Given the description of an element on the screen output the (x, y) to click on. 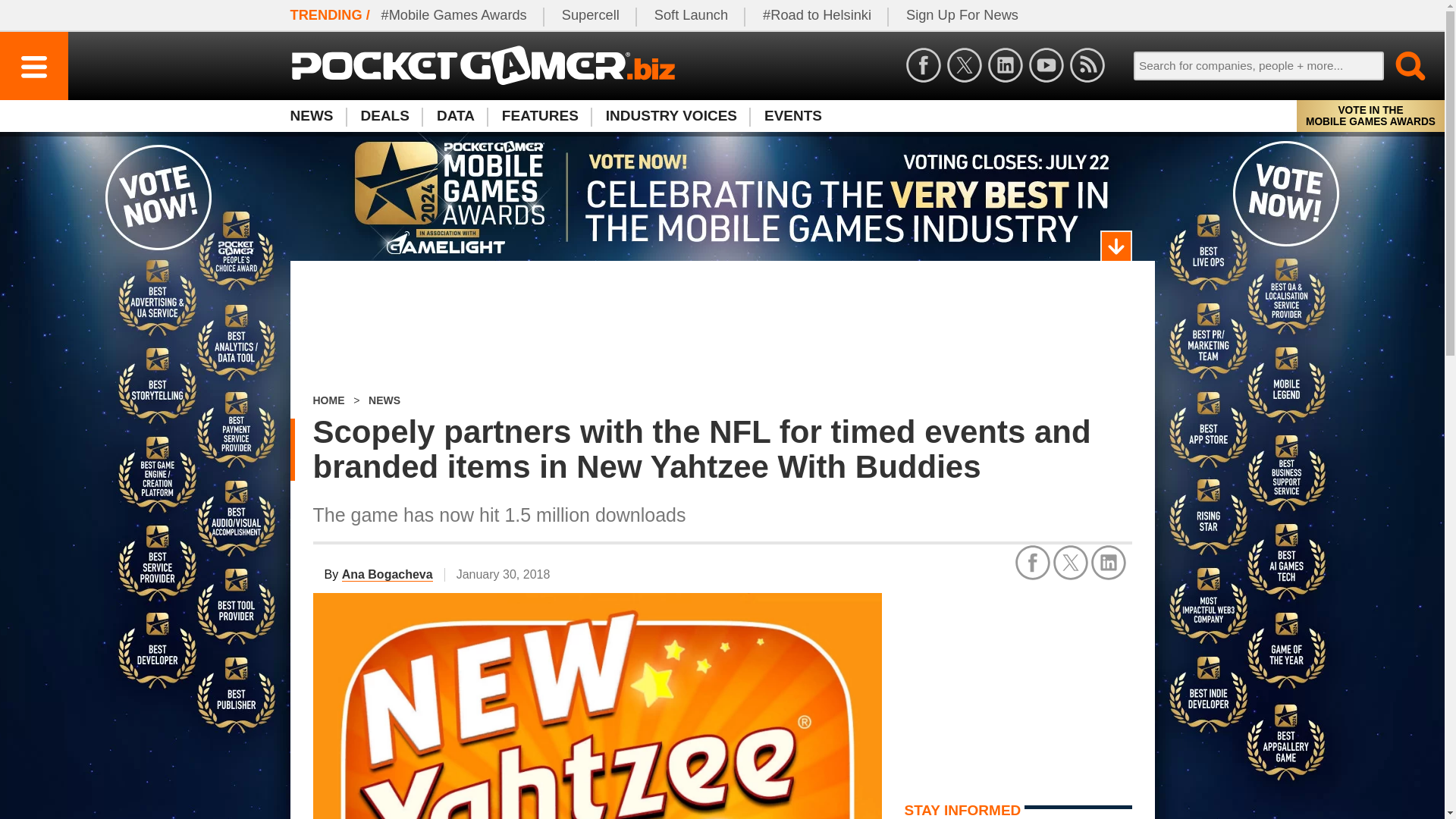
INDUSTRY VOICES (671, 115)
DATA (455, 115)
FEATURES (539, 115)
NEWS (317, 115)
EVENTS (793, 115)
3rd party ad content (1017, 687)
Ana Bogacheva (387, 575)
Supercell (590, 15)
Go (1402, 65)
Sign Up For News (961, 15)
NEWS (384, 400)
Go (1402, 65)
HOME (328, 400)
DEALS (385, 115)
